Given the description of an element on the screen output the (x, y) to click on. 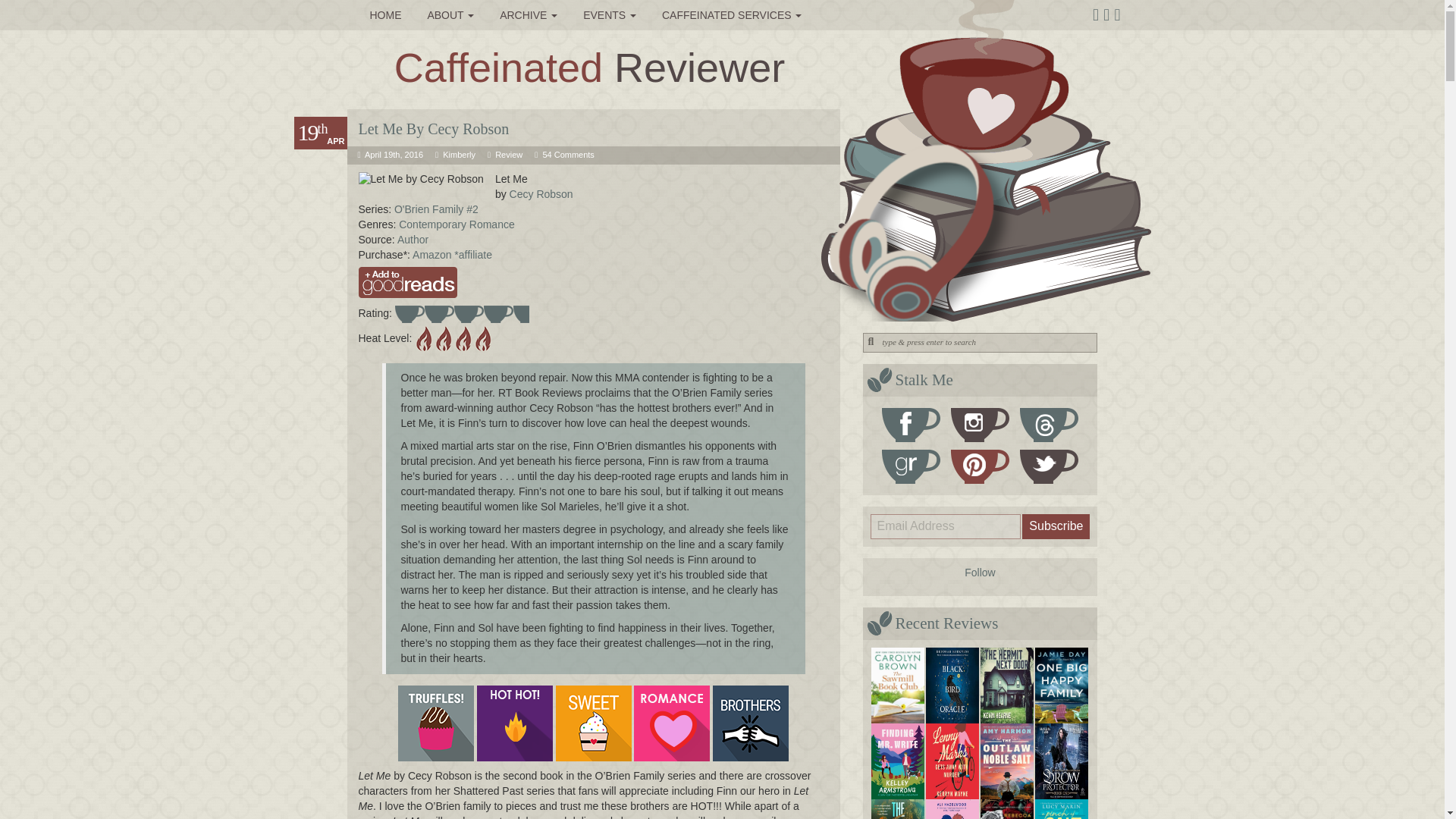
Cecy Robson (541, 193)
ABOUT (449, 15)
Please fill in this field. (946, 526)
CAFFEINATED SERVICES (731, 15)
Contemporary Romance (456, 224)
Let Me by Cecy Robson (420, 179)
Author (412, 239)
HOME (385, 15)
Caffeinated Reviewer (589, 67)
EVENTS (609, 15)
Review (508, 153)
ARCHIVE (528, 15)
Kimberly (459, 153)
54 Comments (567, 153)
Amazon (433, 254)
